Given the description of an element on the screen output the (x, y) to click on. 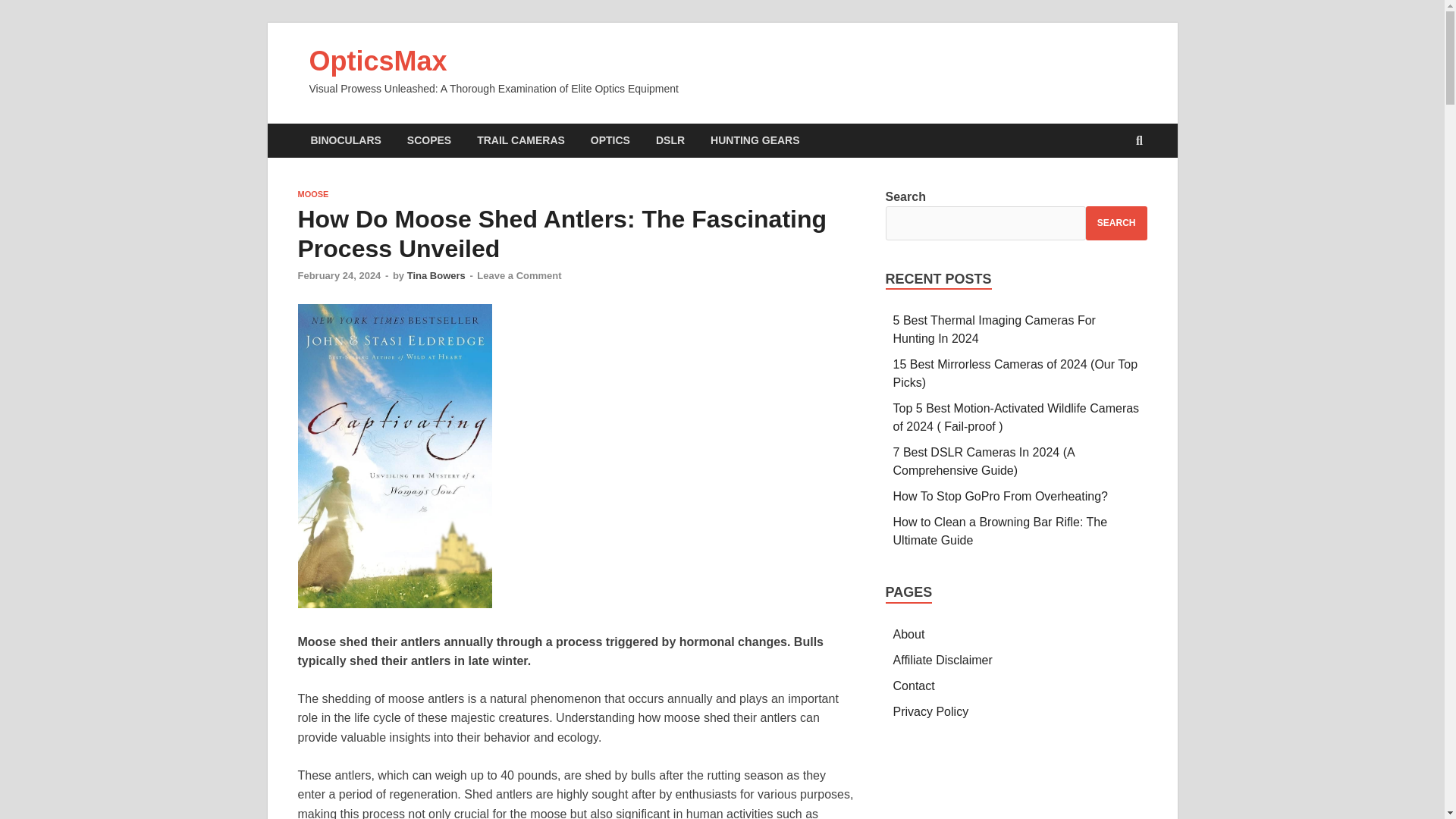
HUNTING GEARS (754, 140)
BINOCULARS (345, 140)
Tina Bowers (436, 275)
MOOSE (313, 194)
TRAIL CAMERAS (521, 140)
OpticsMax (377, 60)
Leave a Comment (518, 275)
SCOPES (429, 140)
OPTICS (610, 140)
DSLR (670, 140)
February 24, 2024 (338, 275)
